Given the description of an element on the screen output the (x, y) to click on. 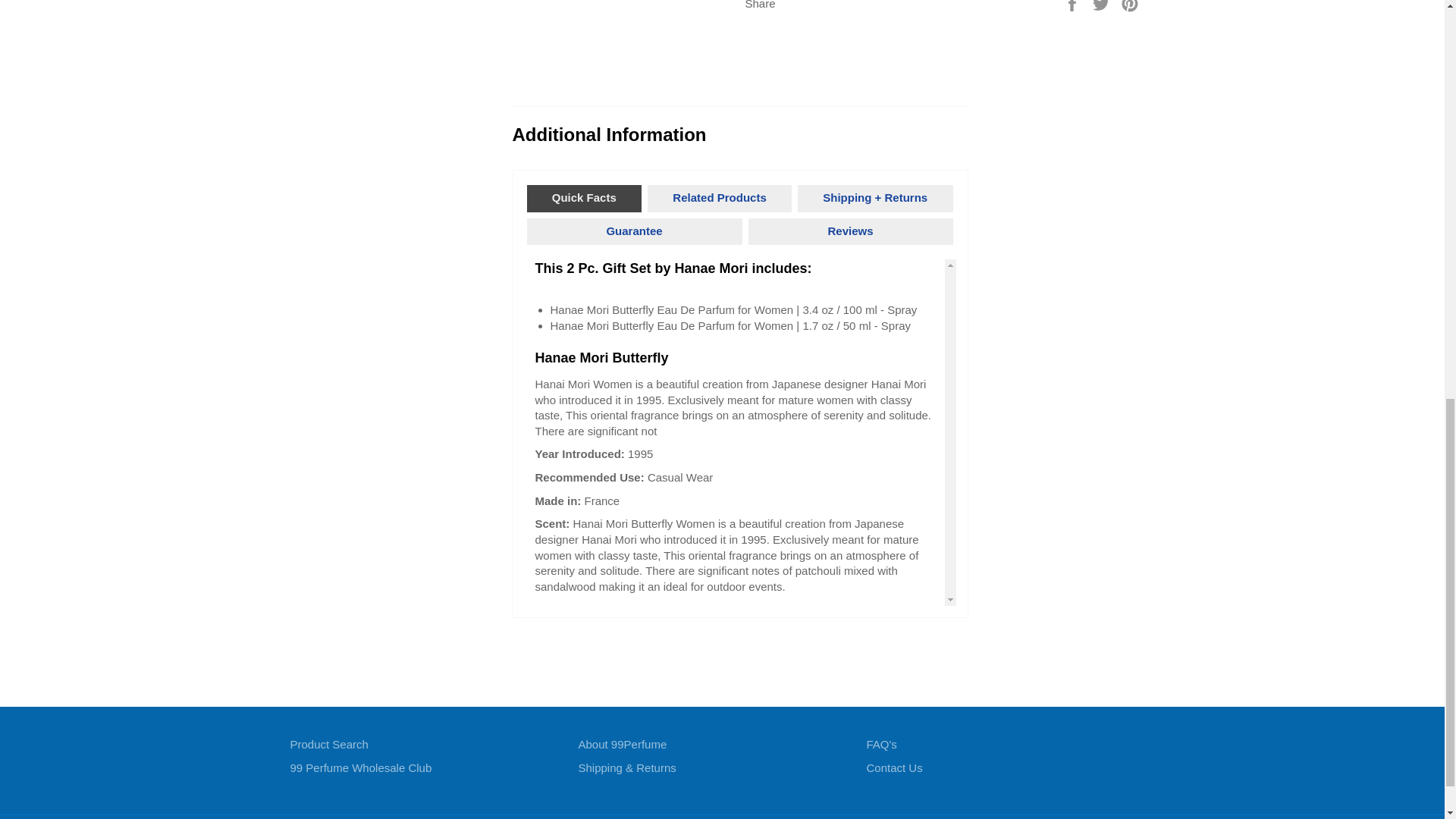
Tweet on Twitter (1102, 4)
Pin on Pinterest (1129, 4)
Share on Facebook (1073, 4)
